Given the description of an element on the screen output the (x, y) to click on. 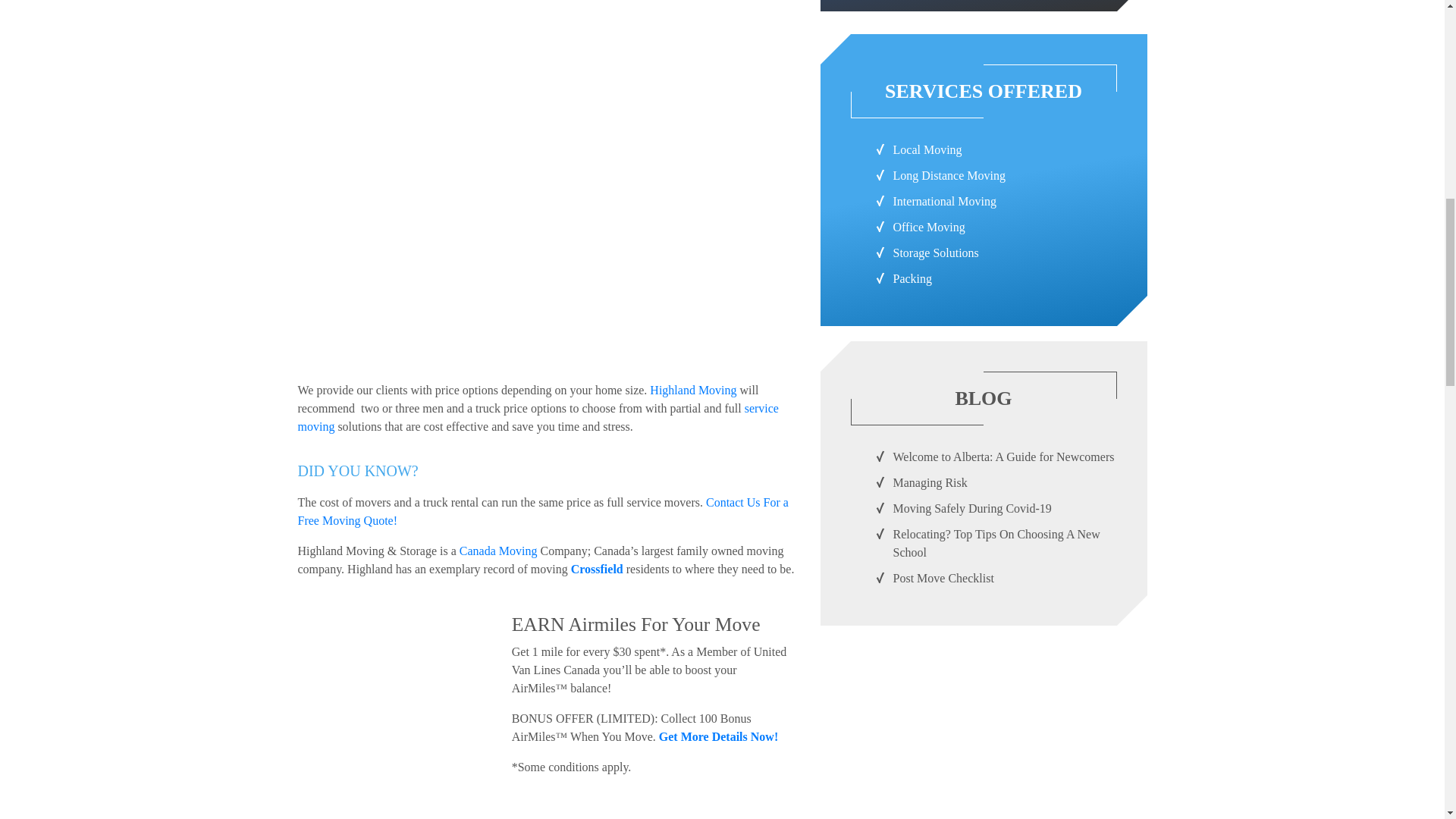
Highland Moving (692, 390)
Crossfield (596, 568)
Canada Moving (498, 550)
service moving (537, 417)
Contact Us For a Free Moving Quote! (542, 511)
